Given the description of an element on the screen output the (x, y) to click on. 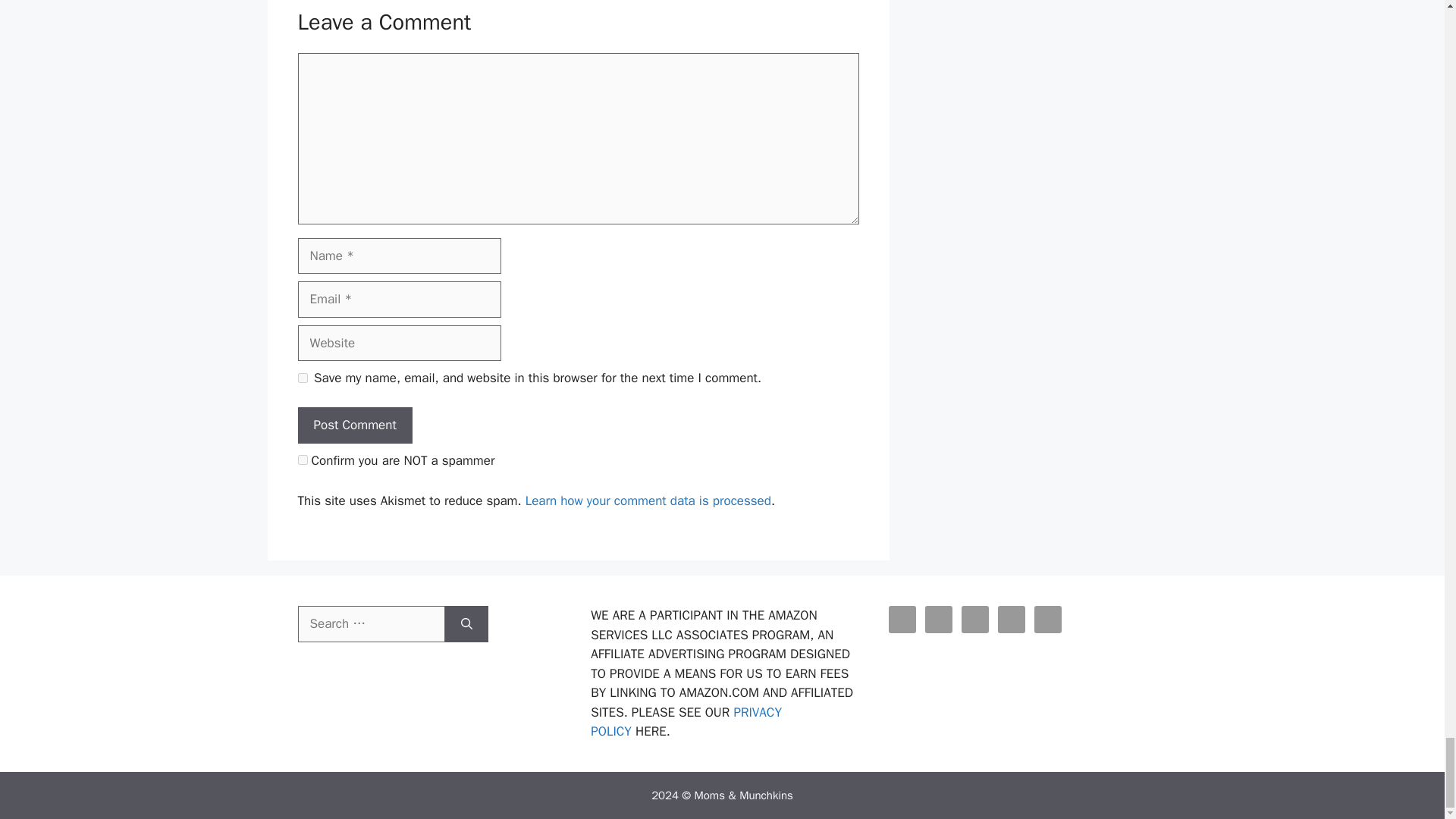
Post Comment (354, 425)
yes (302, 378)
on (302, 460)
Search for: (370, 624)
